Given the description of an element on the screen output the (x, y) to click on. 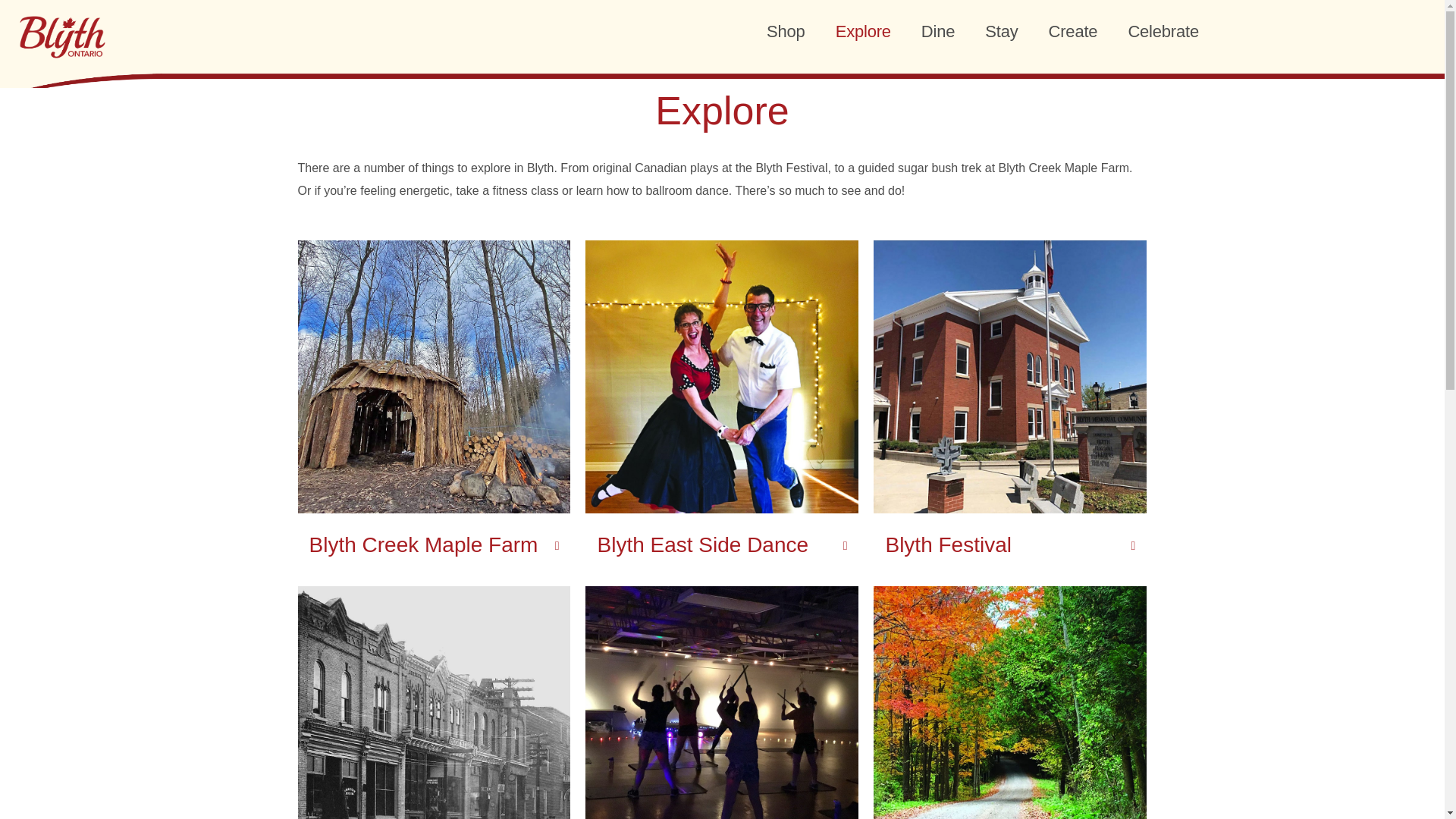
Stay (1000, 30)
Blyth East Side Dance (702, 544)
Blyth Festival (948, 544)
Dine (937, 30)
Explore (863, 30)
Shop (786, 30)
Create (1073, 30)
Blyth Creek Maple Farm (423, 544)
Celebrate (1163, 30)
